Given the description of an element on the screen output the (x, y) to click on. 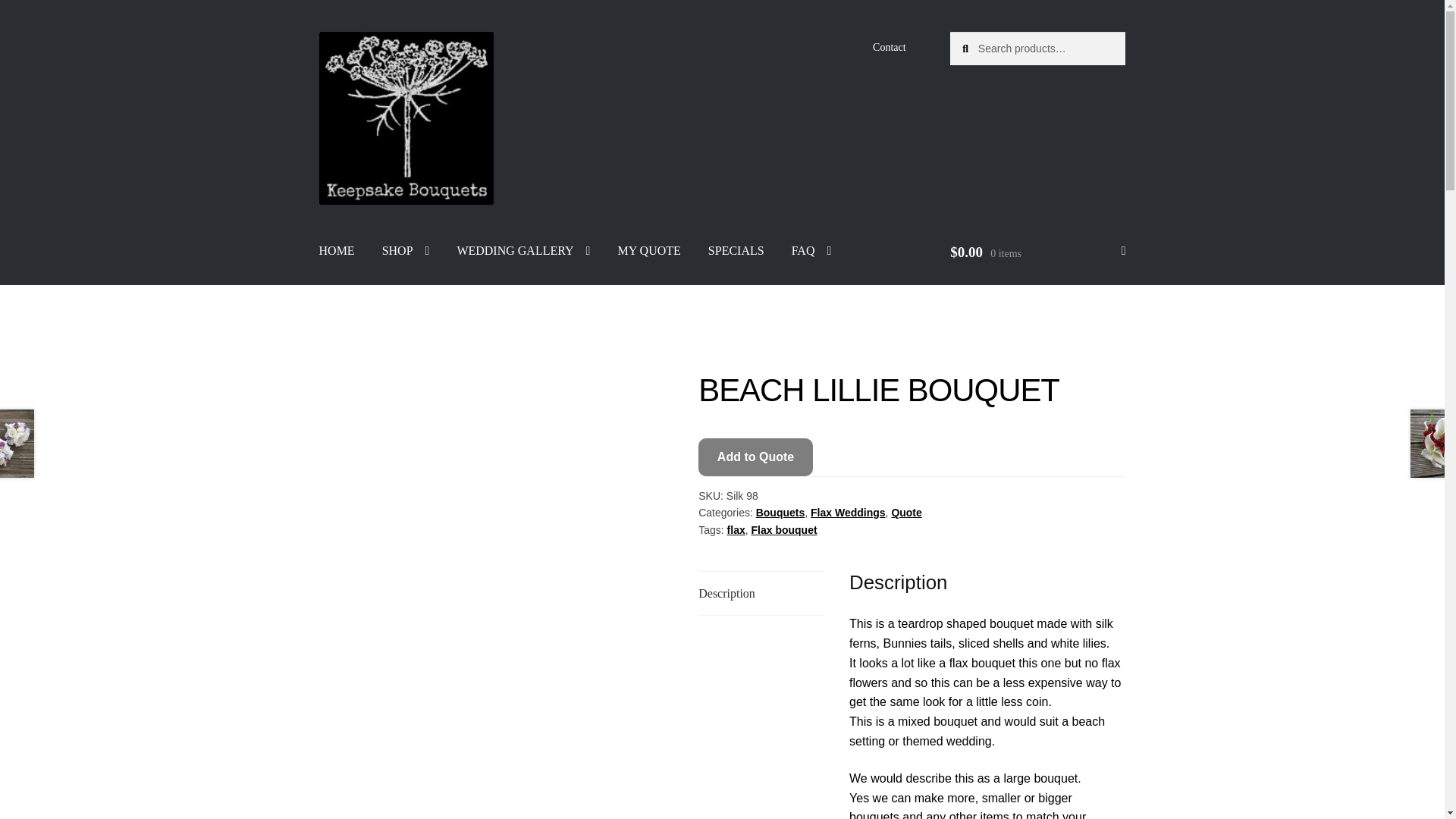
WEDDING GALLERY (523, 250)
SPECIALS (735, 250)
FAQ (811, 250)
View your shopping cart (1037, 252)
MY QUOTE (649, 250)
SHOP (405, 250)
HOME (336, 250)
Contact (889, 47)
